Given the description of an element on the screen output the (x, y) to click on. 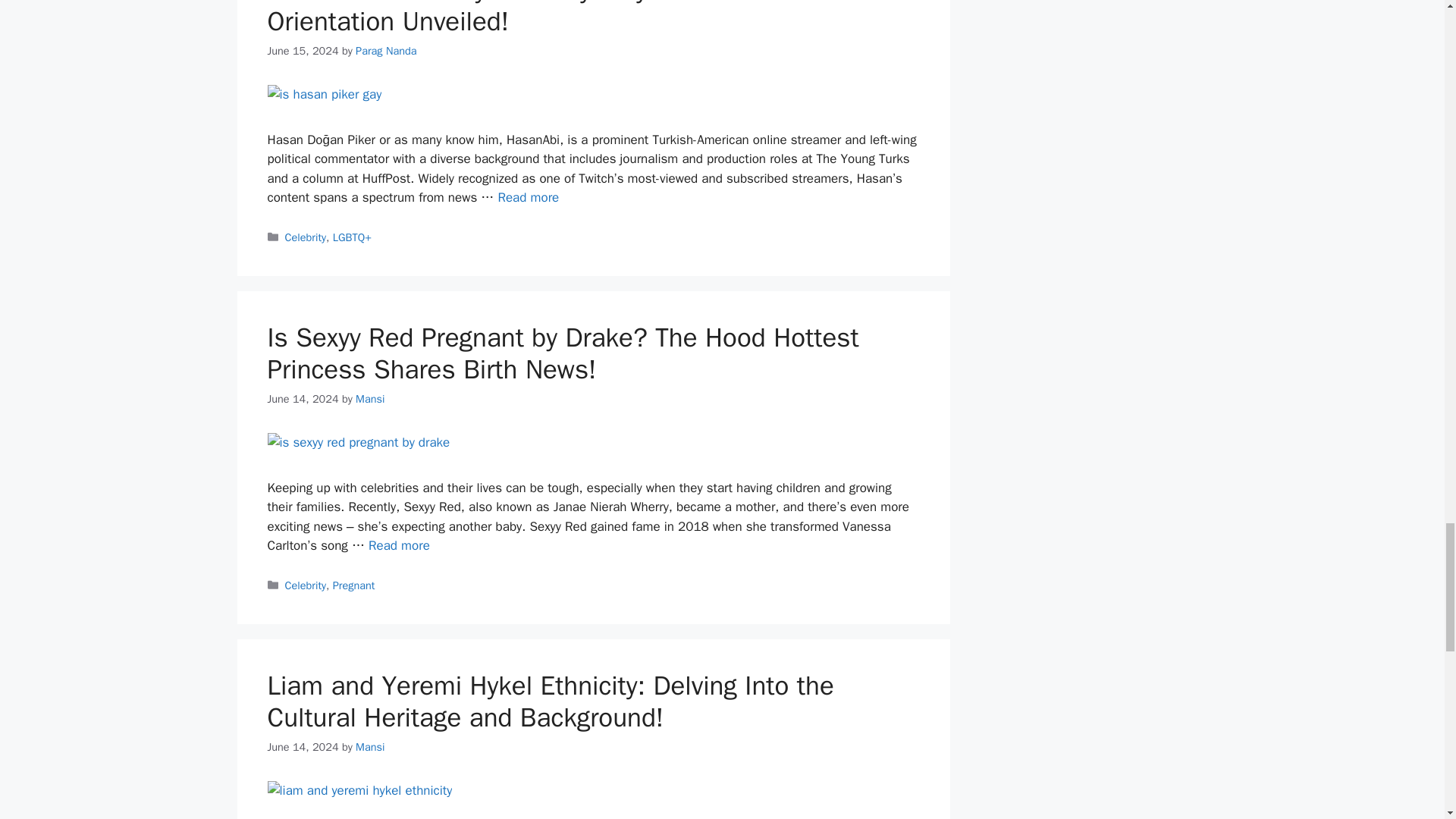
View all posts by Mansi (369, 398)
View all posts by Parag Nanda (385, 50)
